Given the description of an element on the screen output the (x, y) to click on. 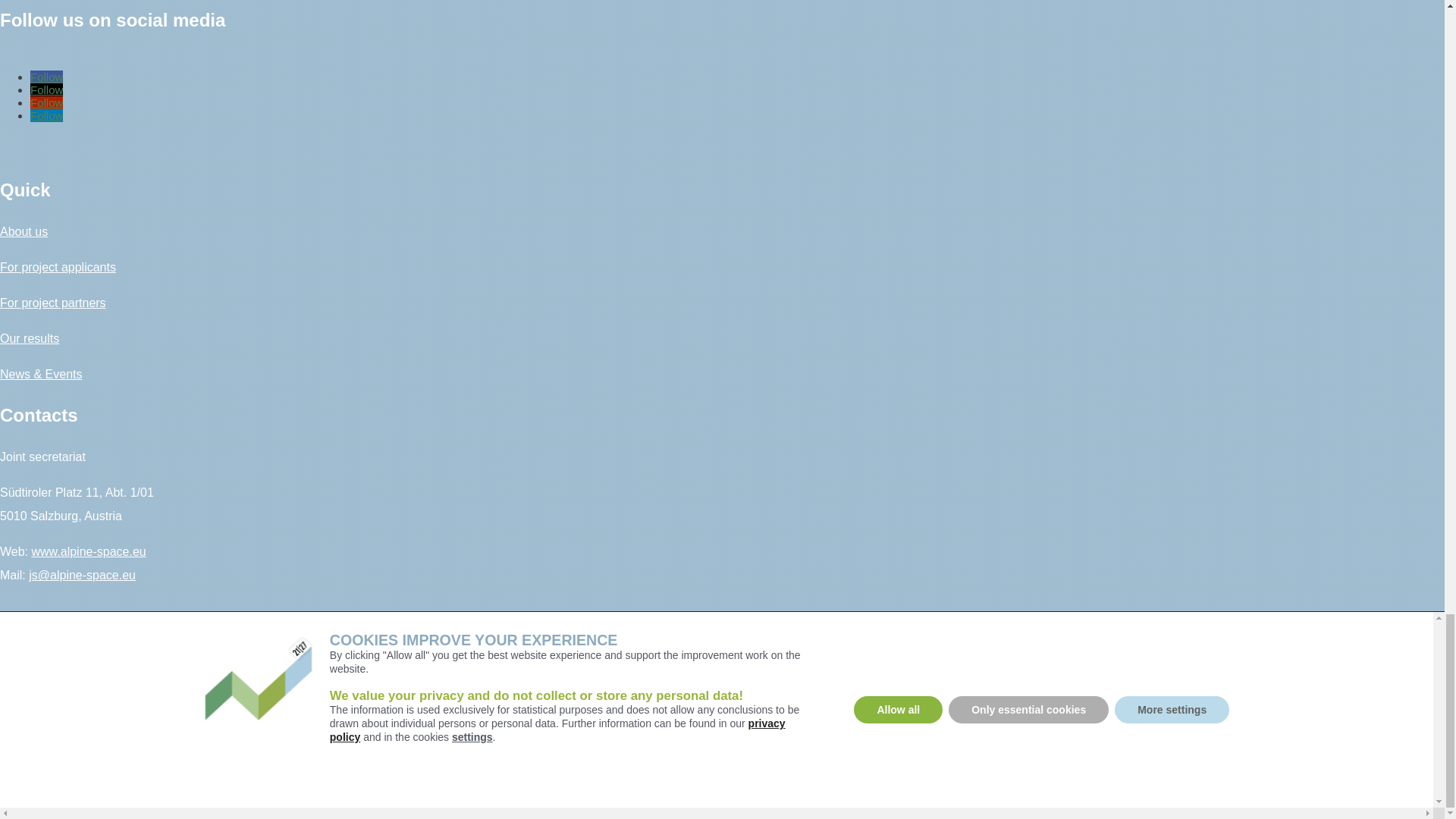
Follow on X (46, 89)
Follow on LinkedIn (46, 115)
Follow on Youtube (46, 102)
Follow on Facebook (46, 76)
